Given the description of an element on the screen output the (x, y) to click on. 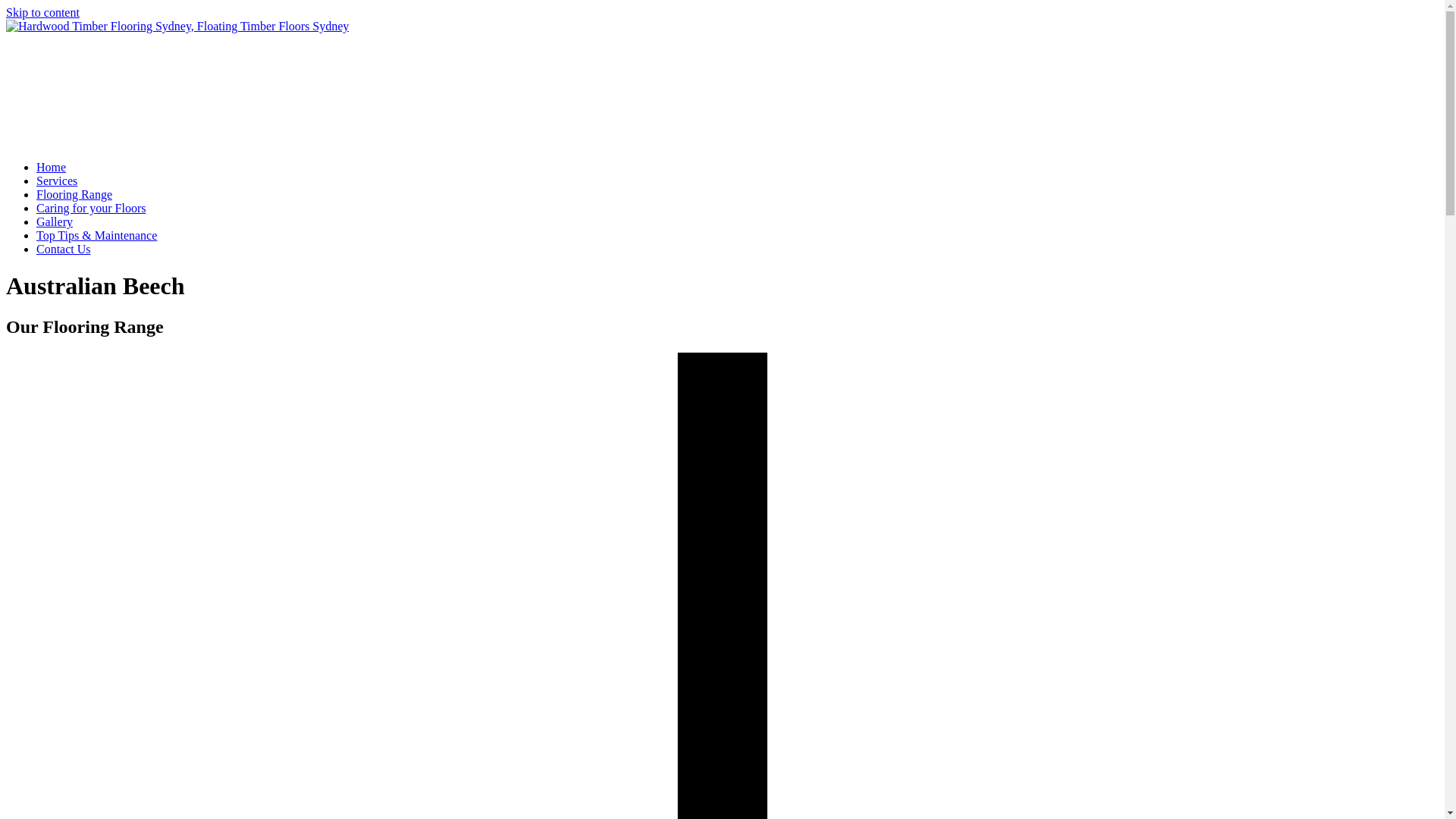
Skip to content Element type: text (42, 12)
Caring for your Floors Element type: text (90, 207)
Gallery Element type: text (54, 221)
Home Element type: text (50, 166)
Flooring Range Element type: text (74, 194)
Services Element type: text (56, 180)
Top Tips & Maintenance Element type: text (96, 235)
Contact Us Element type: text (63, 248)
